Given the description of an element on the screen output the (x, y) to click on. 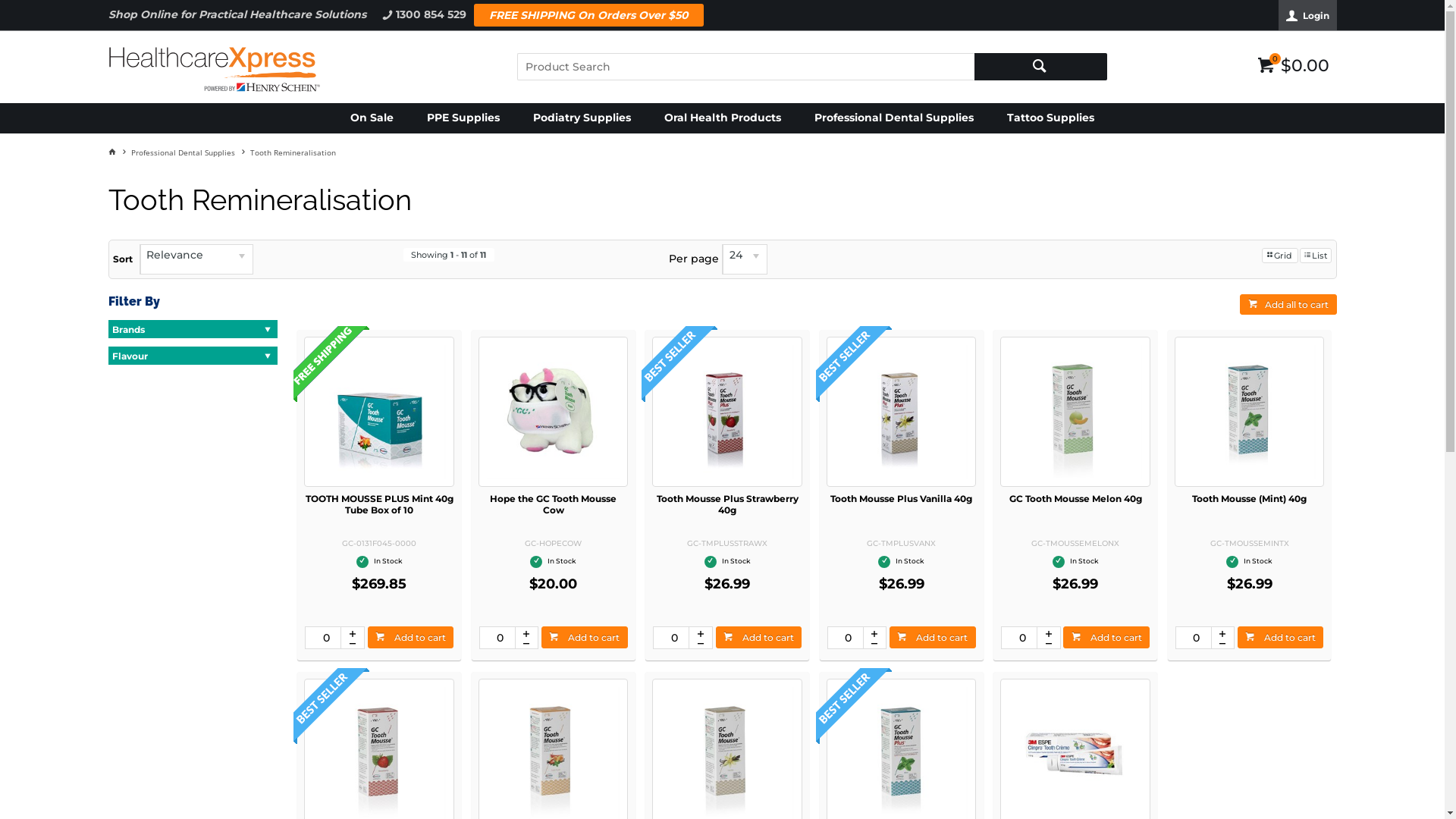
Tooth Mousse Plus Vanilla 40g Element type: text (901, 498)
Add to cart Element type: text (1106, 637)
Add to cart Element type: text (1280, 637)
TOOTH MOUSSE PLUS Mint 40g Tube Box of 10 Element type: text (379, 503)
hope Element type: hover (552, 411)
GC Tooth Mousse Melon 40g Element type: text (1075, 498)
On Sale Element type: text (371, 118)
Hope the GC Tooth Mousse Cow Element type: text (552, 503)
Oral Health Products Element type: text (722, 118)
H742_Tooth-Mousse_mint Element type: hover (378, 411)
Add to cart Element type: text (758, 637)
GC-TMOUSSEMINTX Element type: hover (1249, 411)
Tattoo Supplies Element type: text (1050, 118)
1300 854 529 Element type: text (423, 15)
Tooth_mousse_20160815_NorthDesign25906 Element type: hover (726, 411)
Add to cart Element type: text (932, 637)
Professional Dental Supplies Element type: text (189, 152)
Login Element type: text (1307, 15)
Tooth Mousse (Mint) 40g Element type: text (1249, 498)
PPE Supplies Element type: text (462, 118)
GC-TMOUSSEMELONX Element type: hover (1074, 411)
Add to cart Element type: text (584, 637)
Professional Dental Supplies Element type: text (893, 118)
Tooth Mousse Plus Strawberry 40g Element type: text (727, 503)
$0.00
0 Element type: text (1292, 63)
Add all to cart Element type: text (1287, 304)
Podiatry Supplies Element type: text (581, 118)
Tooth_mousse_20160815_NorthDesign25905 Element type: hover (900, 411)
Add to cart Element type: text (410, 637)
